Given the description of an element on the screen output the (x, y) to click on. 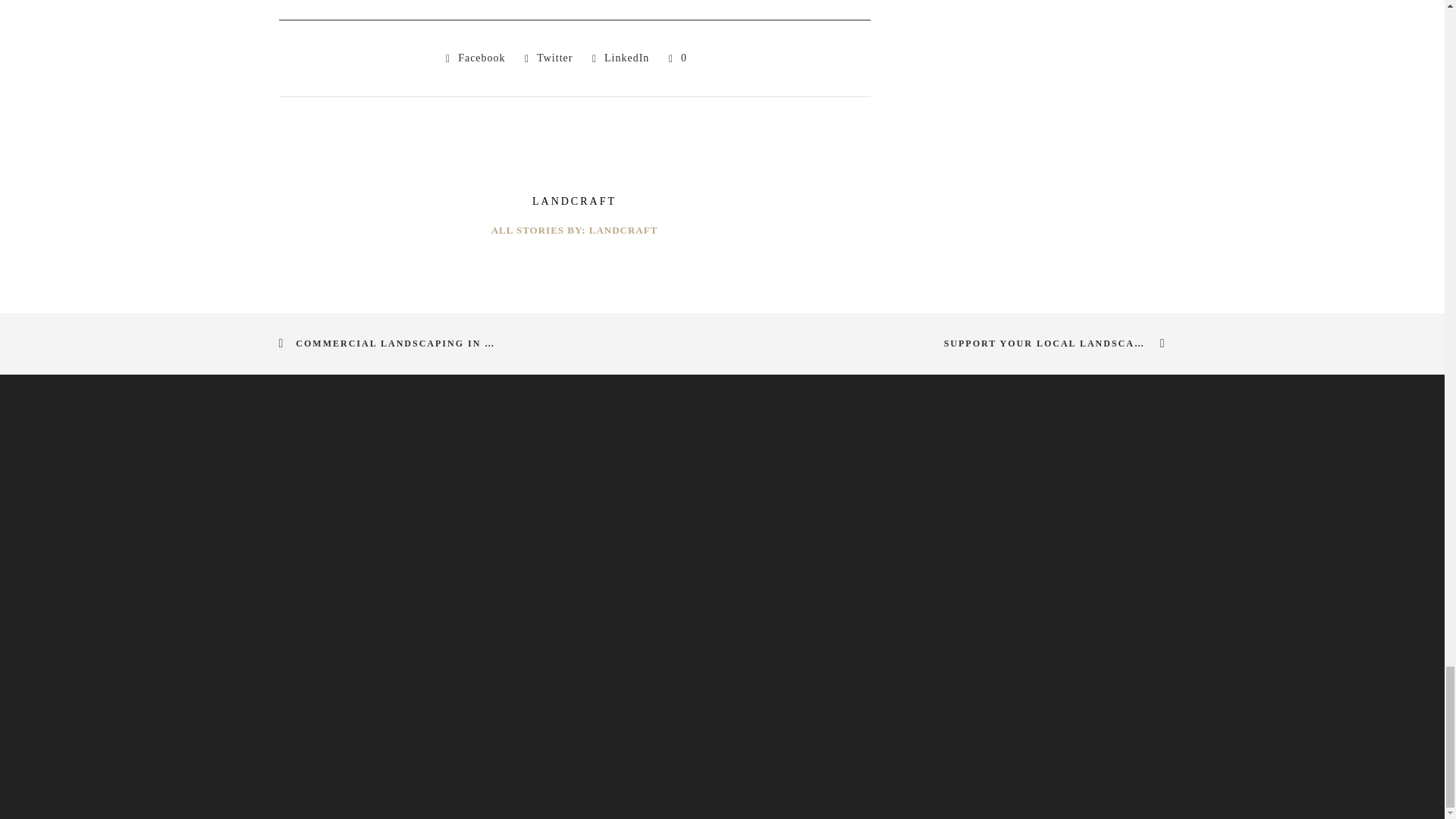
Seasonal Container Planters in the Twin Cities, MN (475, 57)
Seasonal Container Planters in the Twin Cities, MN (548, 57)
Seasonal Container Planters in the Twin Cities, MN (620, 57)
